Given the description of an element on the screen output the (x, y) to click on. 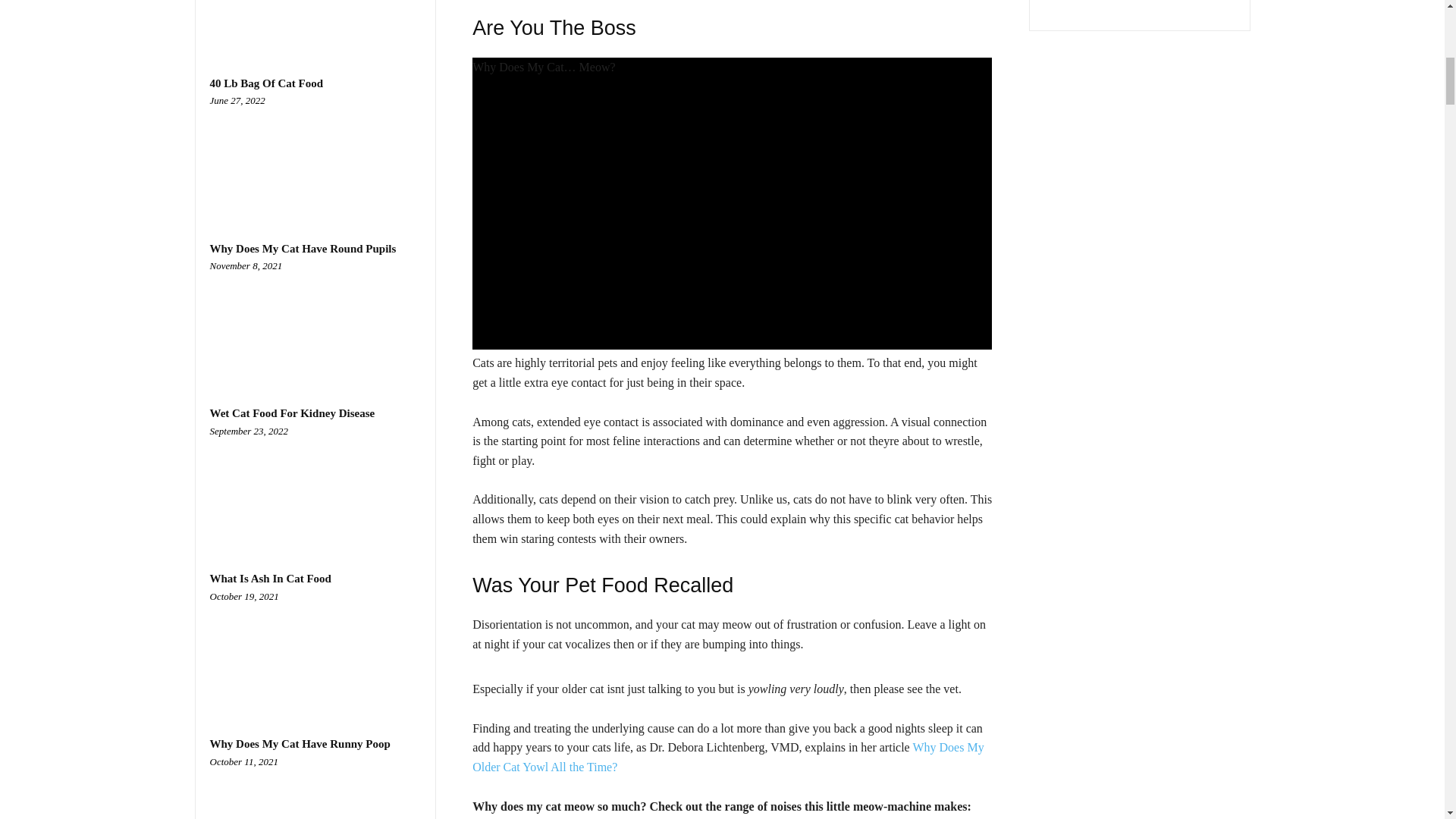
40 Lb Bag Of Cat Food (266, 82)
40 Lb Bag Of Cat Food (314, 156)
Brands Of Wet Cat Food (314, 22)
